Given the description of an element on the screen output the (x, y) to click on. 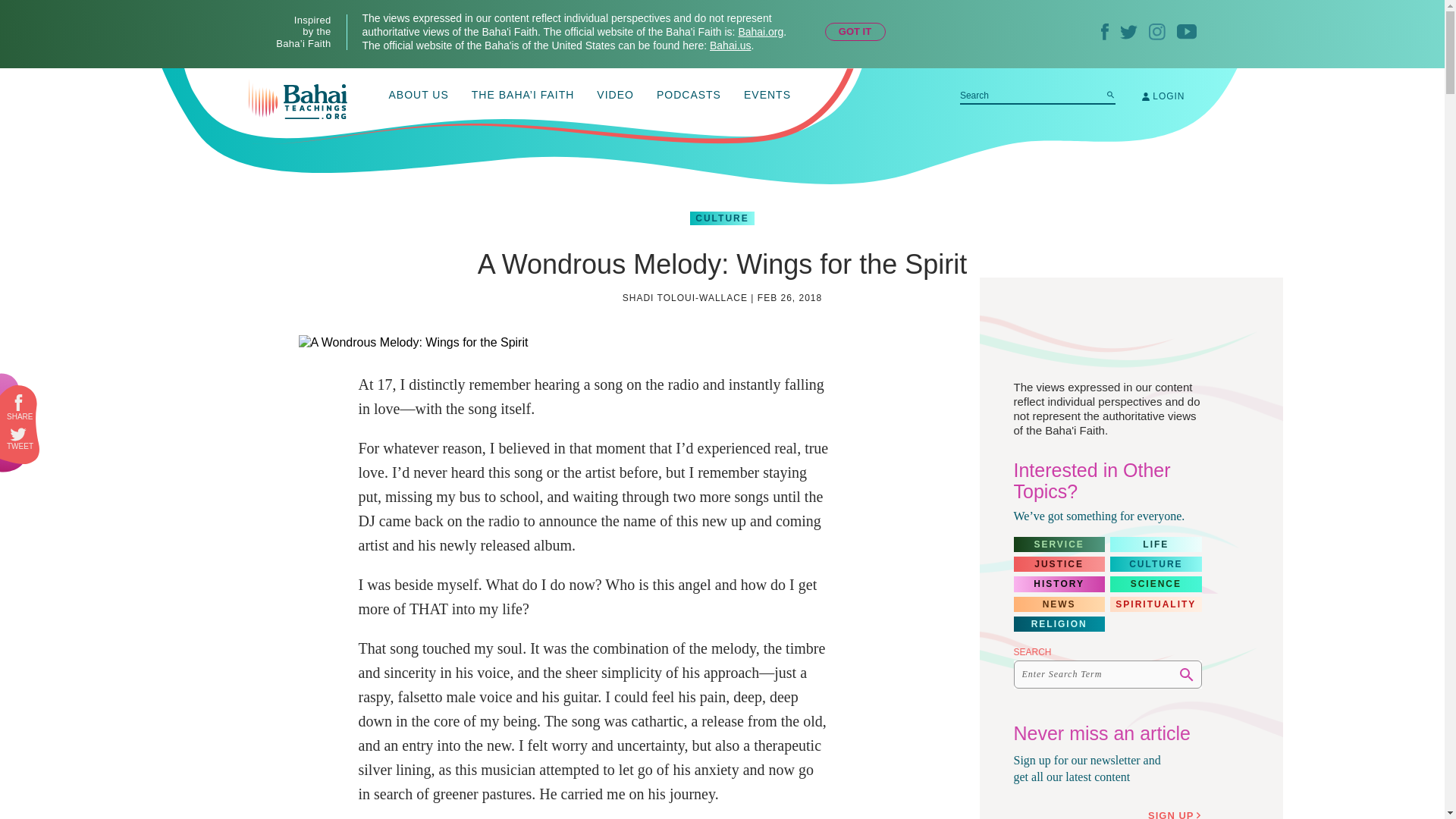
Share on Facebook (19, 402)
SCIENCE (1155, 583)
SERVICE (1058, 544)
LOGIN (1163, 95)
Search for: (1037, 95)
EVENTS (767, 96)
ABOUT US (418, 96)
PODCASTS (688, 96)
CULTURE (722, 218)
Search (1185, 674)
SIGN UP (1176, 813)
Bahai.org (760, 31)
SPIRITUALITY (1155, 604)
Search (1110, 94)
RELIGION (1058, 623)
